Given the description of an element on the screen output the (x, y) to click on. 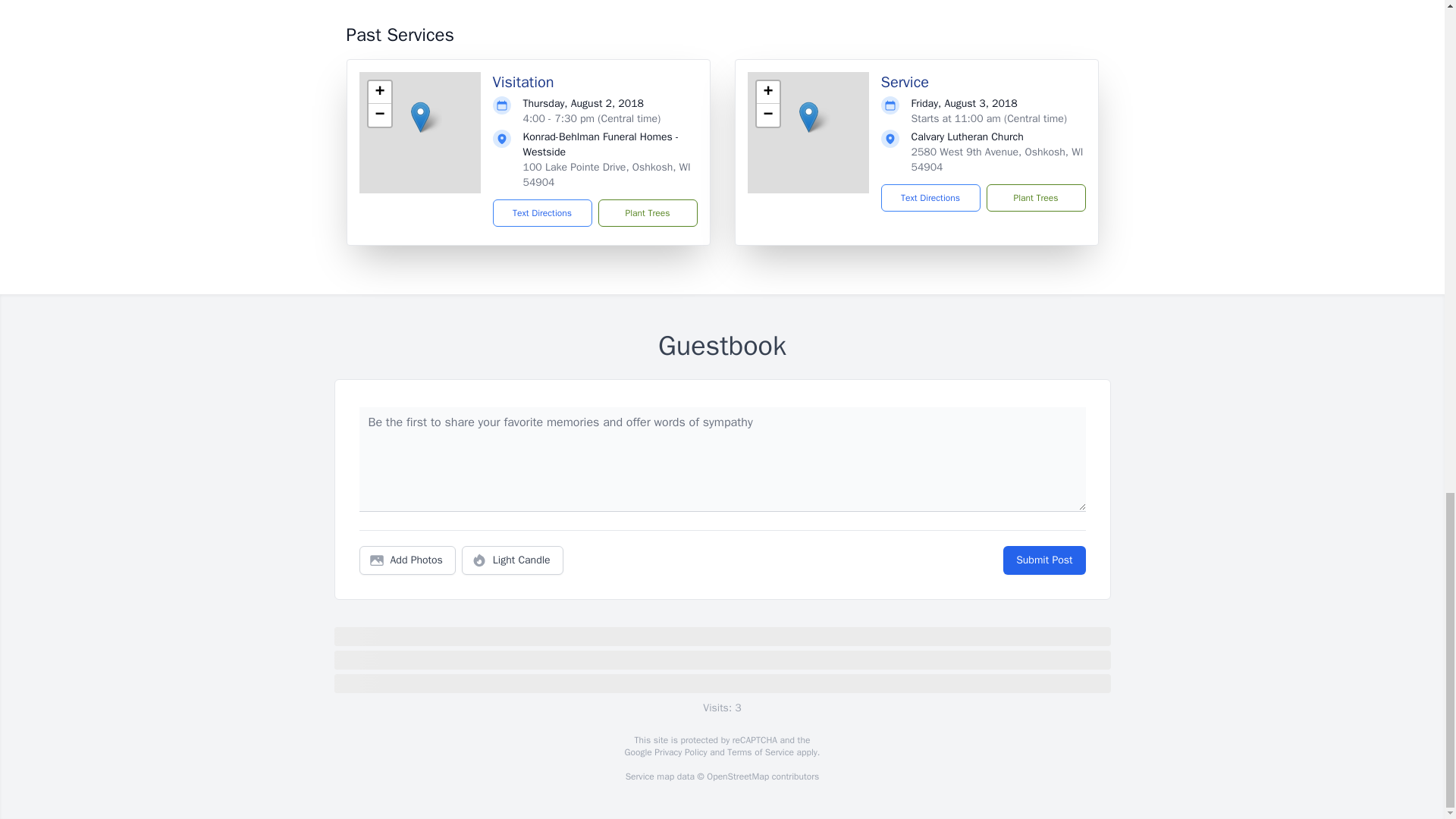
Zoom in (767, 92)
2580 West 9th Avenue, Oshkosh, WI 54904 (997, 159)
Zoom out (379, 115)
Zoom in (379, 92)
Zoom out (767, 115)
Submit Post (1043, 560)
Text Directions (929, 197)
Text Directions (542, 212)
Plant Trees (646, 212)
OpenStreetMap (737, 776)
Privacy Policy (679, 752)
Terms of Service (759, 752)
Light Candle (512, 560)
Plant Trees (1034, 197)
100 Lake Pointe Drive, Oshkosh, WI 54904 (606, 174)
